Given the description of an element on the screen output the (x, y) to click on. 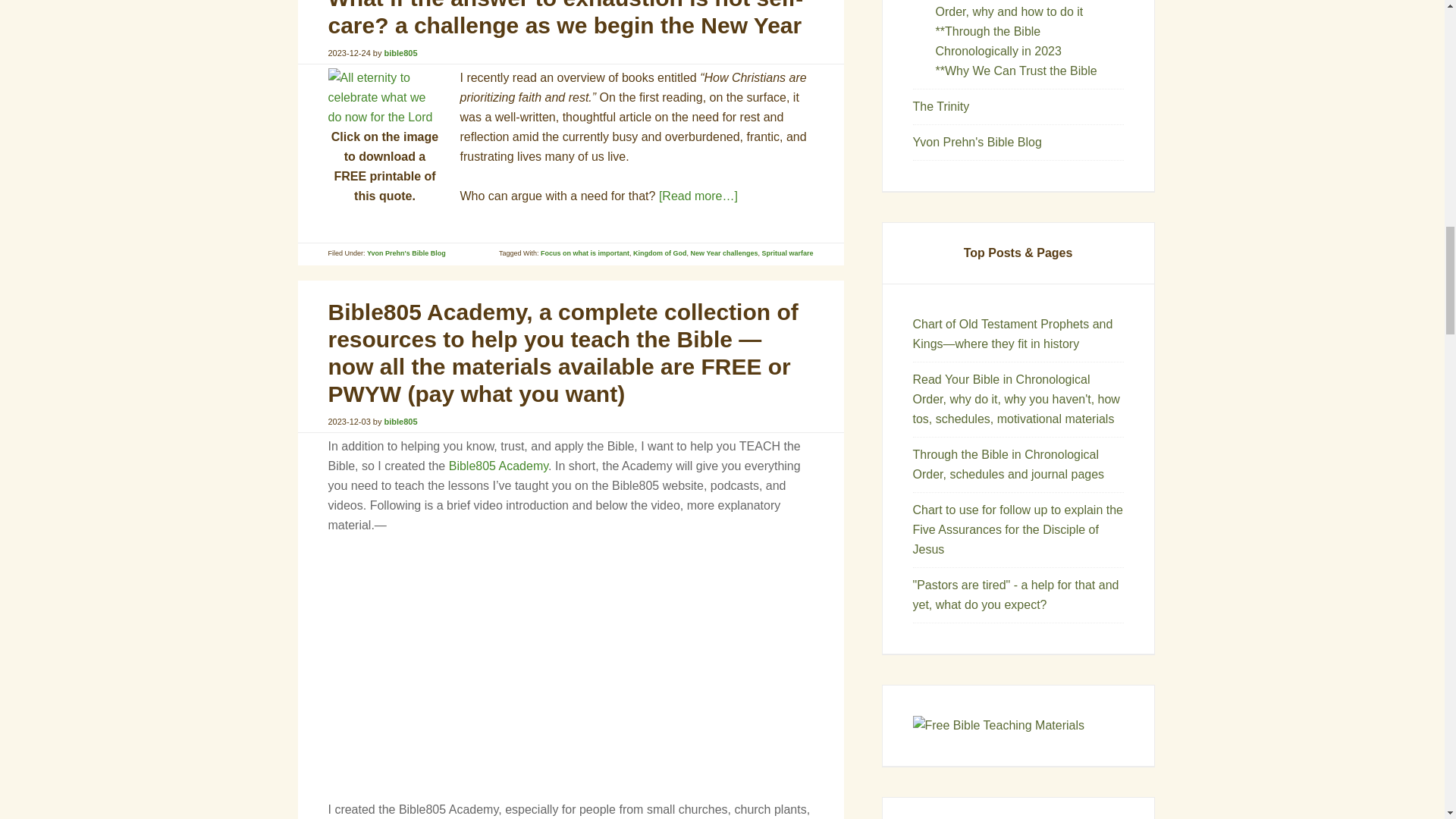
bible805 (400, 52)
YouTube video player (539, 654)
